Given the description of an element on the screen output the (x, y) to click on. 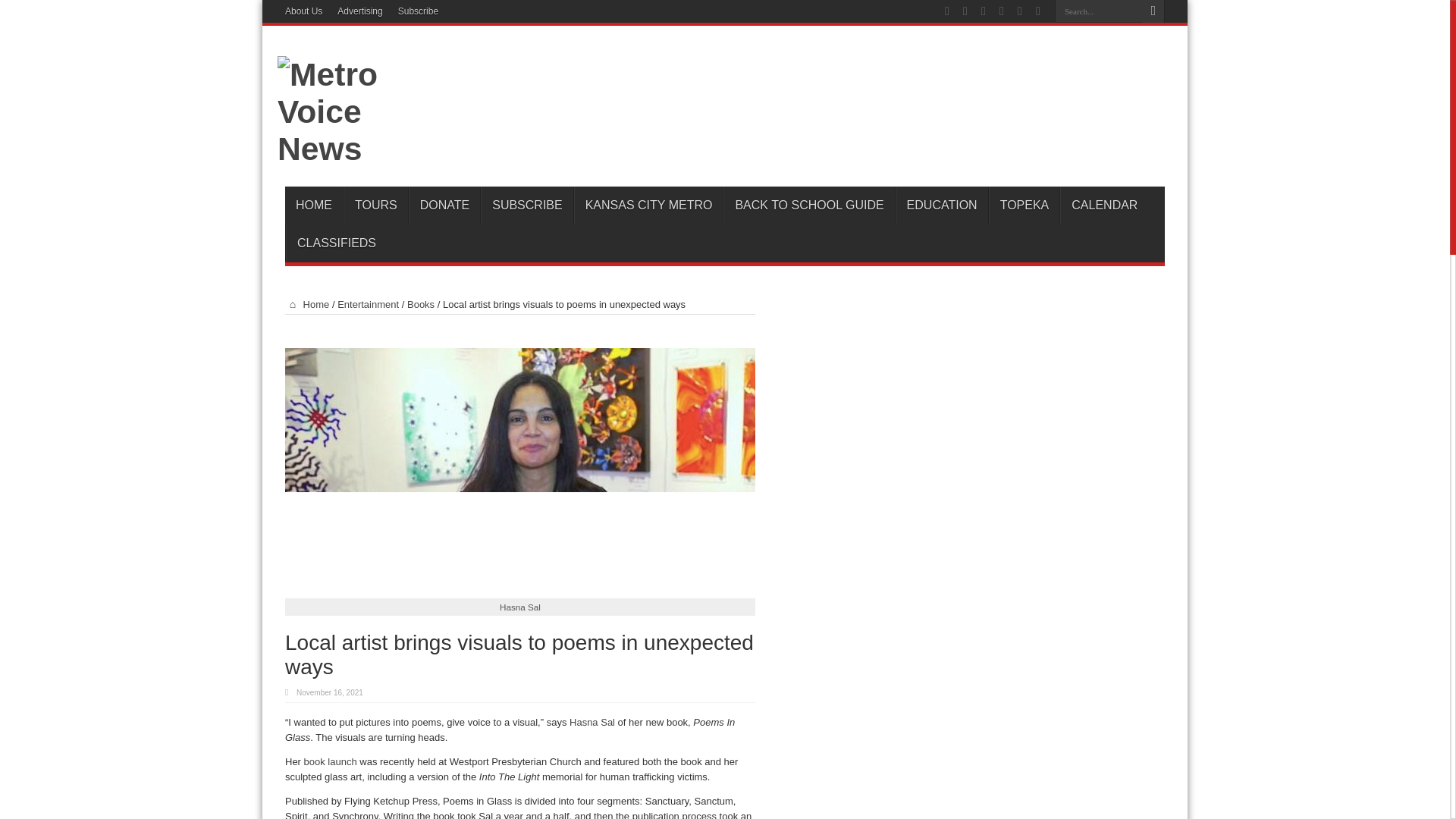
TOPEKA (1023, 205)
Metro Voice News (342, 148)
EDUCATION (941, 205)
Subscribe (417, 11)
HOME (313, 205)
About Us (303, 11)
Advertising (359, 11)
Facebook (965, 11)
Search... (1097, 11)
TOURS (375, 205)
instagram (1037, 11)
SUBSCRIBE (526, 205)
DONATE (444, 205)
Twitter (983, 11)
BACK TO SCHOOL GUIDE (808, 205)
